Given the description of an element on the screen output the (x, y) to click on. 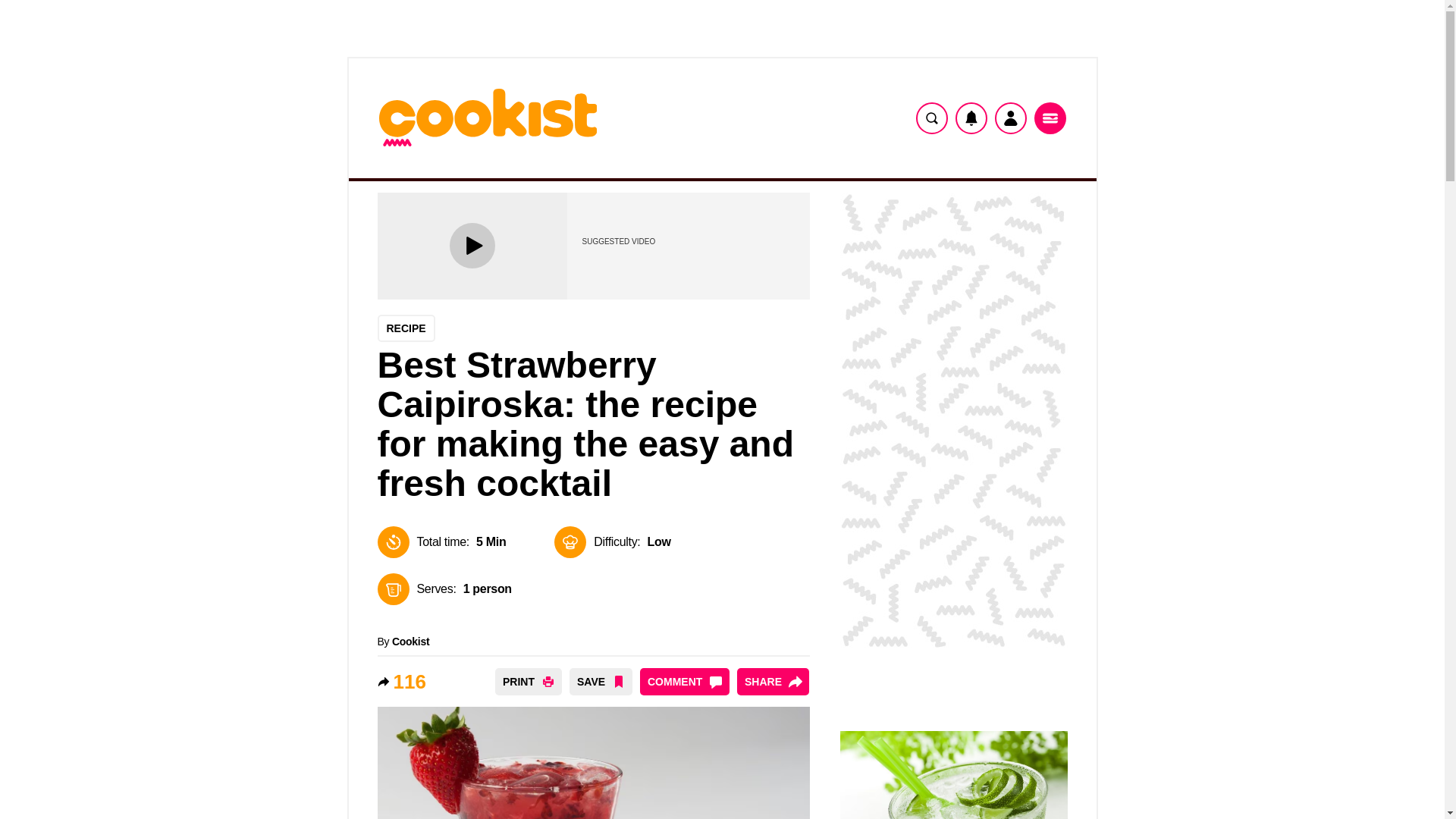
SAVE (600, 681)
PRINT (528, 681)
Cookist (410, 641)
SHARE (772, 681)
COMMENT (684, 681)
